Given the description of an element on the screen output the (x, y) to click on. 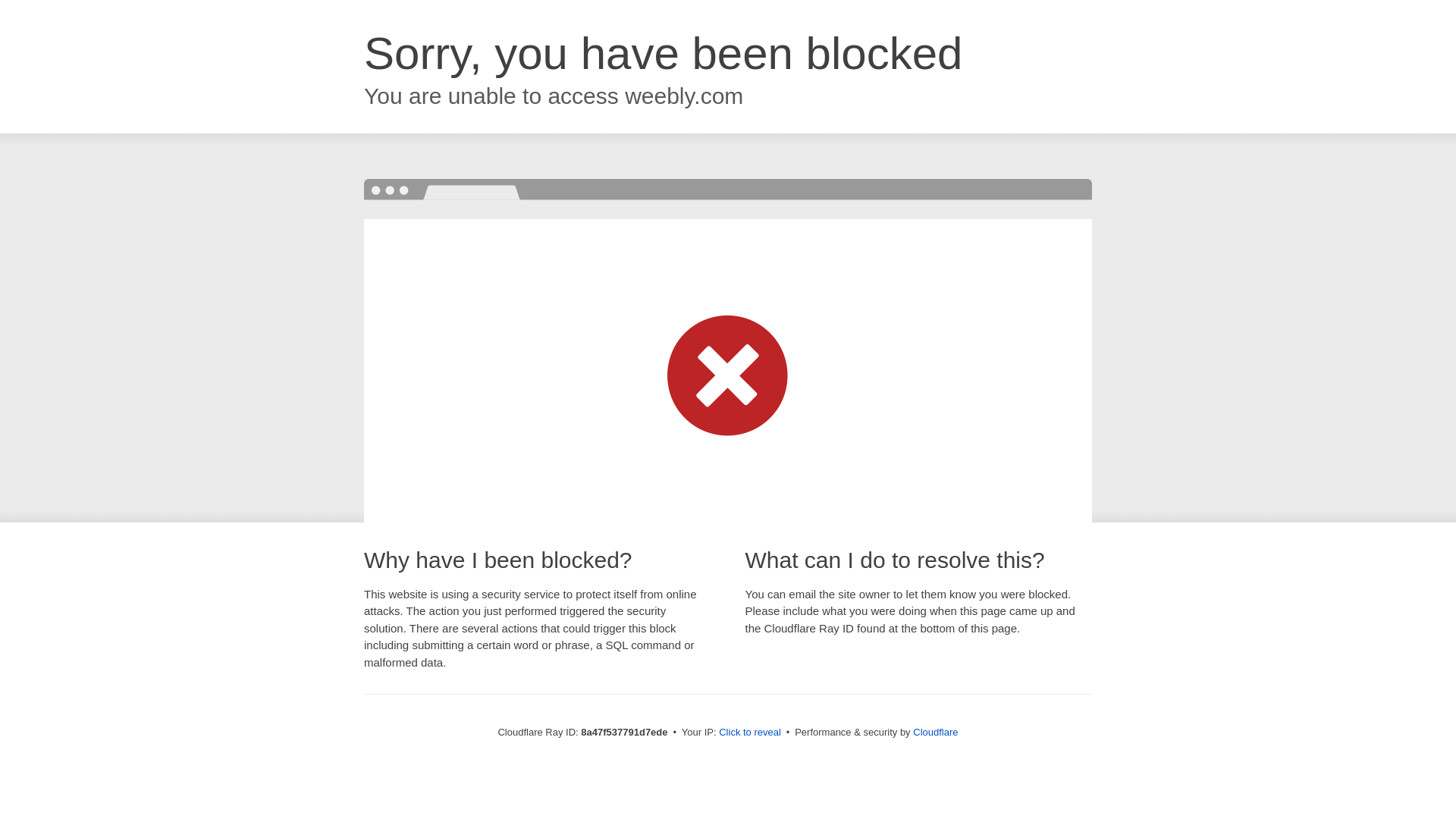
Cloudflare (935, 731)
Click to reveal (749, 732)
